Given the description of an element on the screen output the (x, y) to click on. 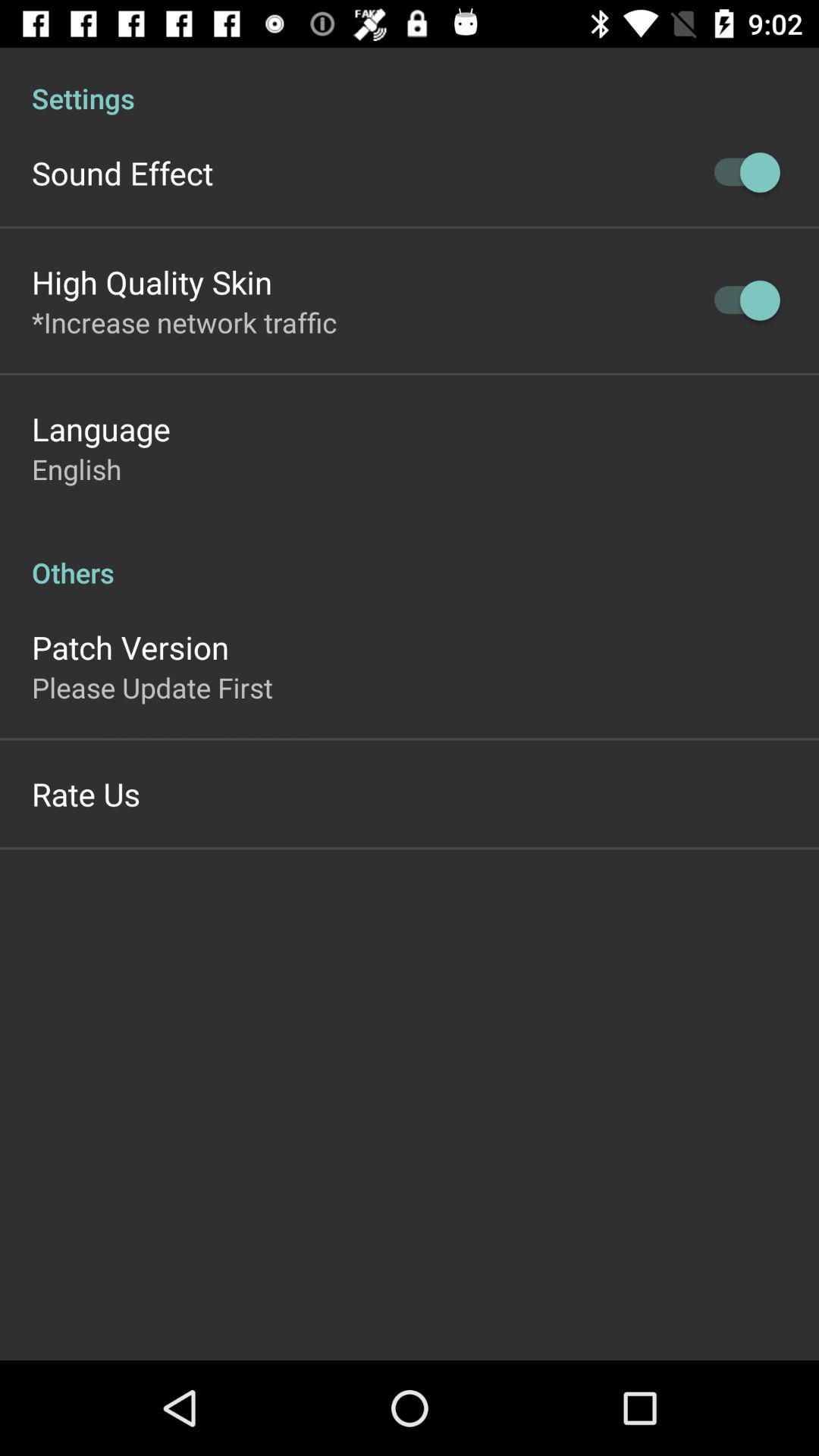
jump to the patch version (130, 646)
